Given the description of an element on the screen output the (x, y) to click on. 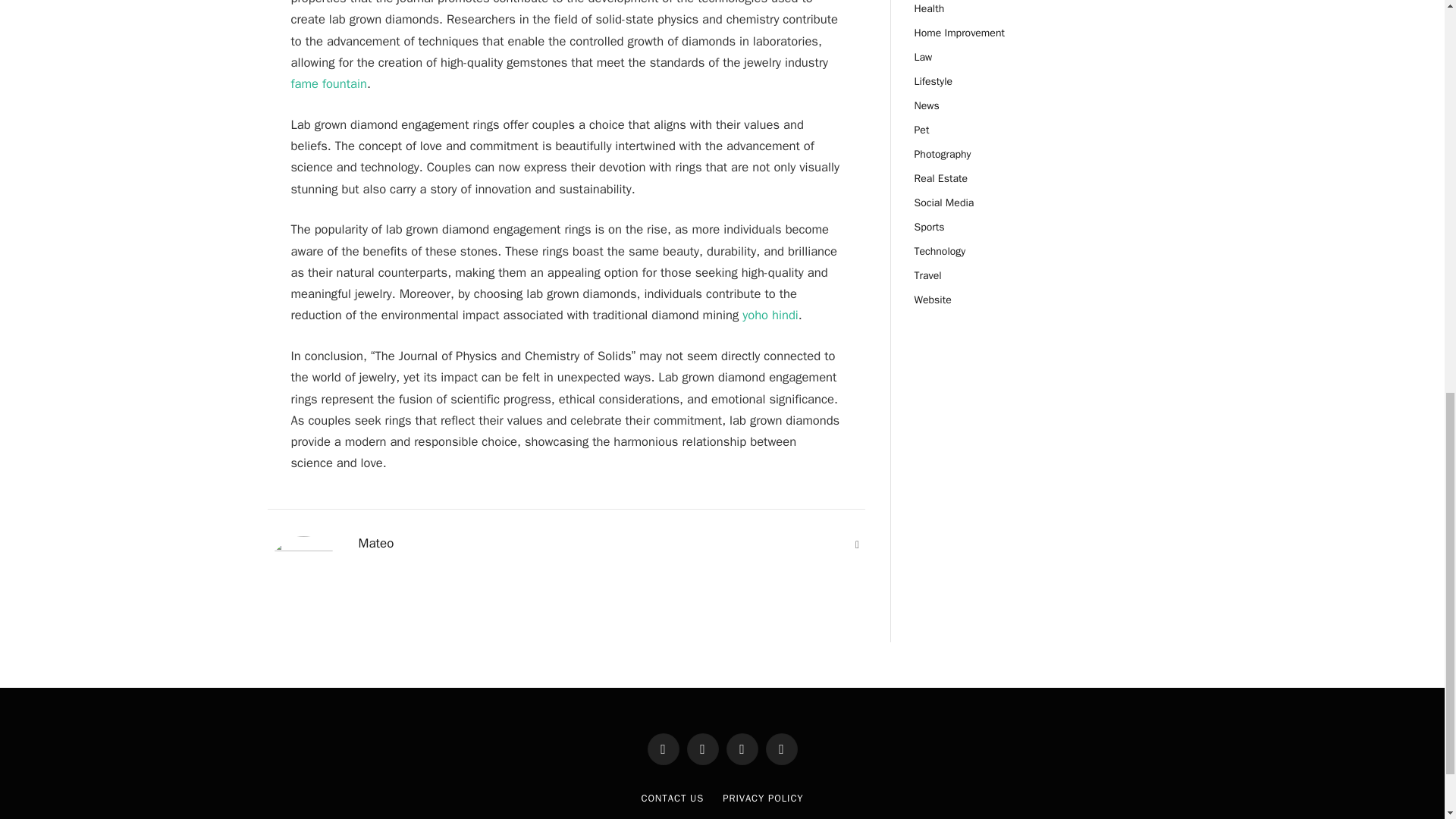
Mateo (375, 543)
Website (856, 544)
fame fountain (328, 83)
Posts by Mateo (375, 543)
Website (856, 544)
yoho hindi (769, 314)
